Given the description of an element on the screen output the (x, y) to click on. 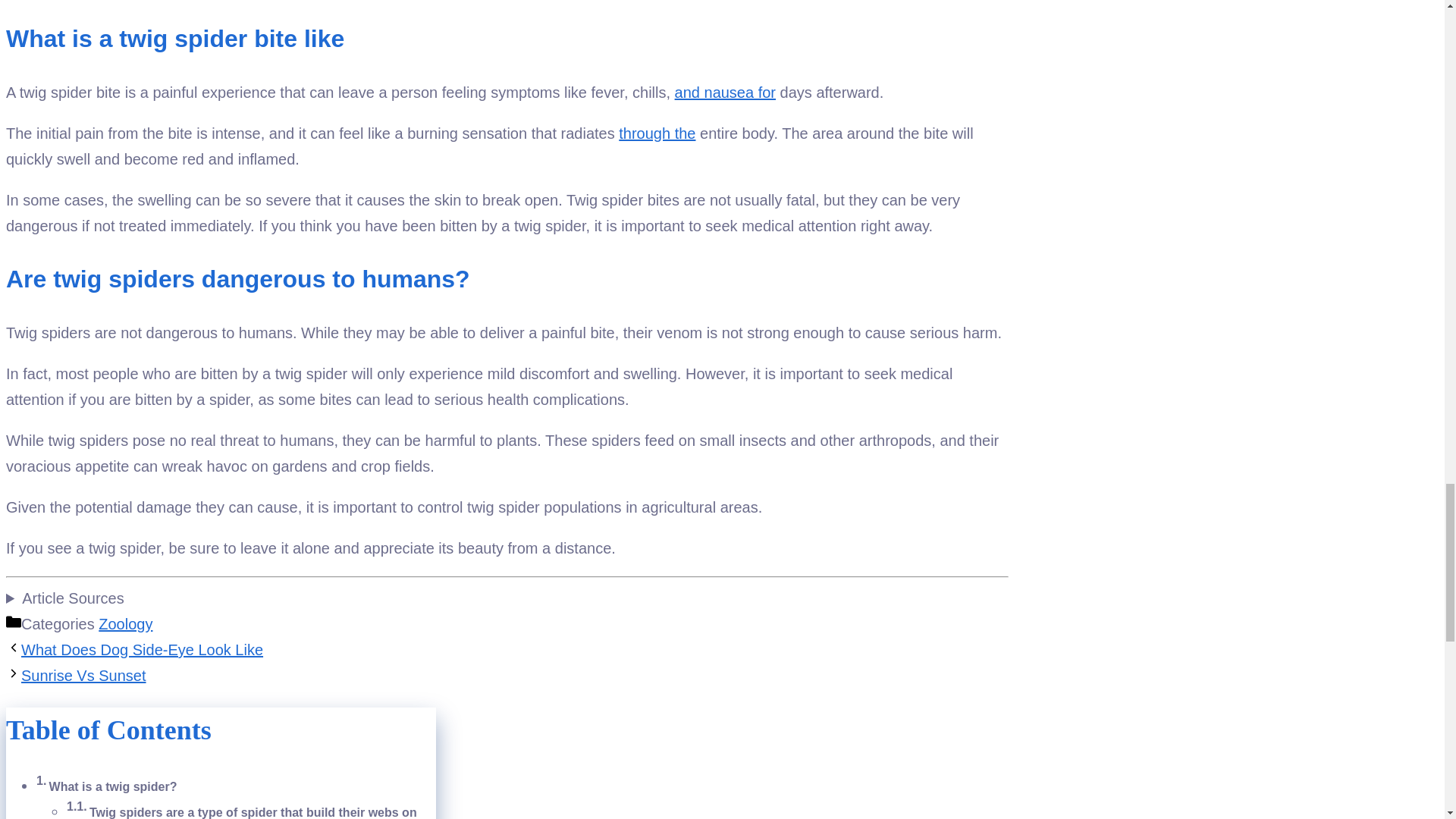
Sunrise Vs Sunset (84, 675)
What is a twig spider? (113, 786)
Zoology (125, 623)
through the (656, 133)
and nausea for (725, 92)
What is a twig spider? (113, 786)
What Does Dog Side-Eye Look Like (142, 649)
